Given the description of an element on the screen output the (x, y) to click on. 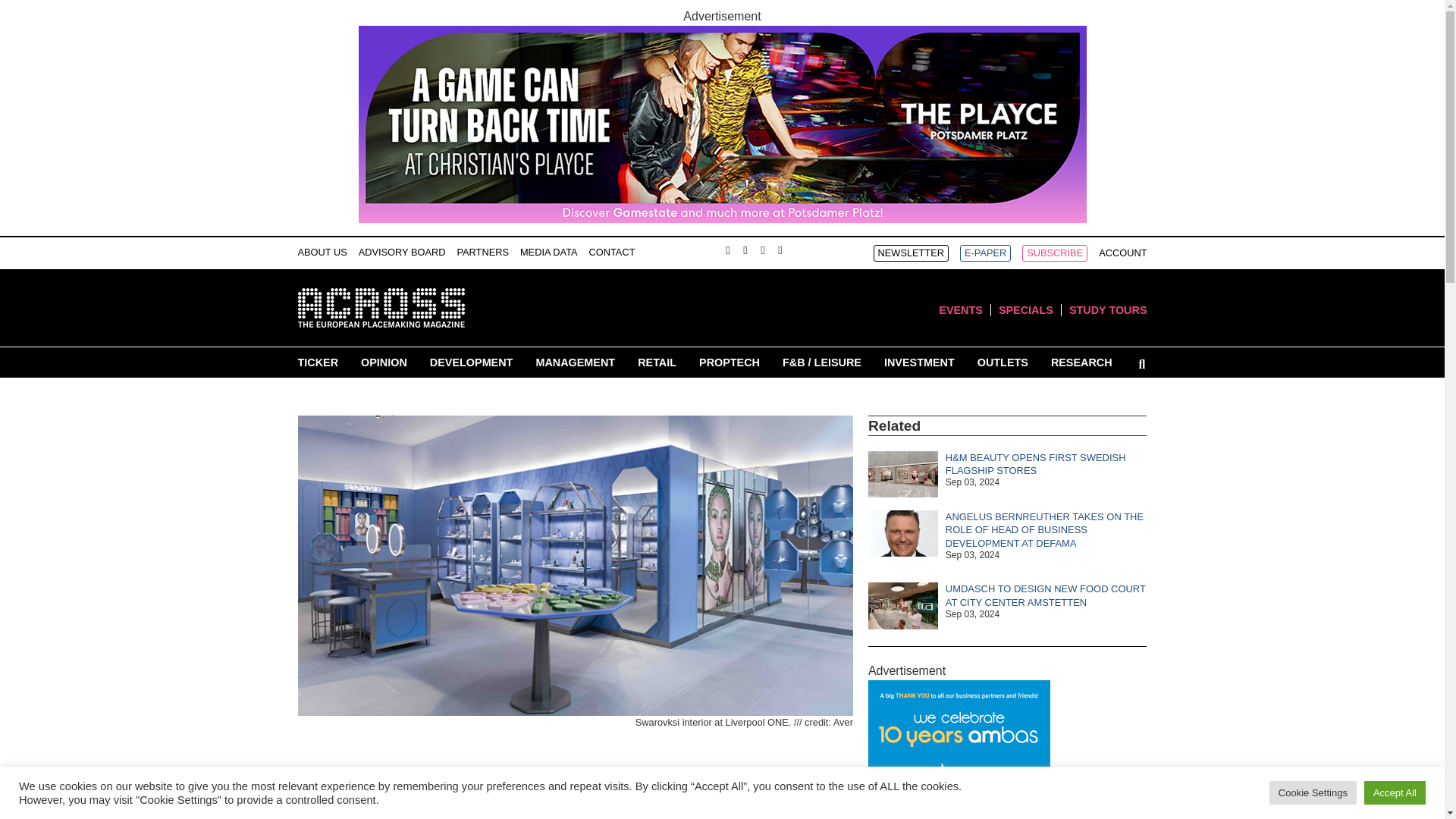
SUBSCRIBE (1054, 252)
EVENTS (960, 309)
TICKER (317, 362)
DEVELOPMENT (471, 362)
E-PAPER (984, 252)
ABOUT US (321, 252)
INVESTMENT (919, 362)
NEWSLETTER (911, 252)
OUTLETS (1001, 362)
MANAGEMENT (574, 362)
